Given the description of an element on the screen output the (x, y) to click on. 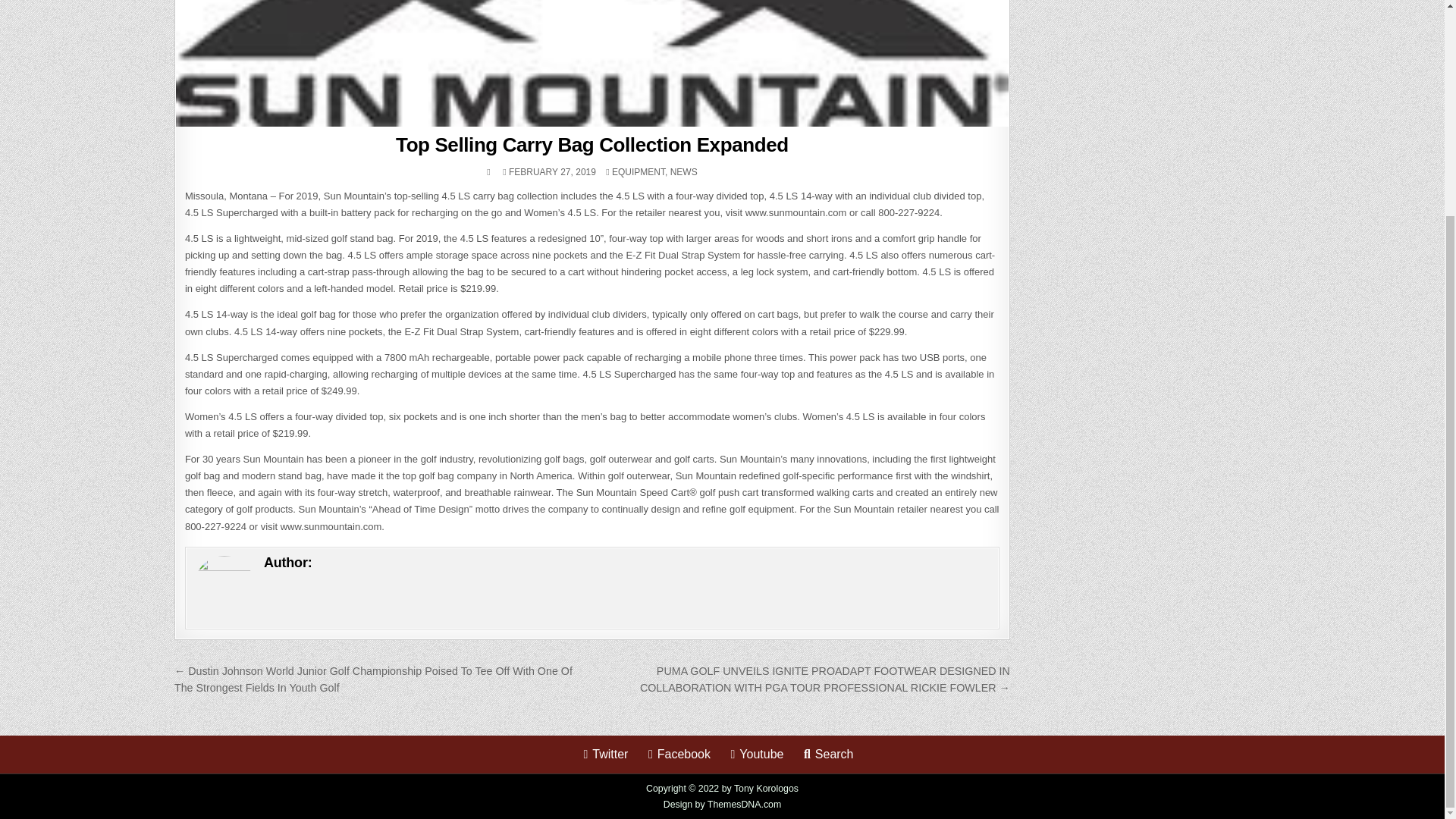
EQUIPMENT (638, 172)
Top Selling Carry Bag Collection Expanded (592, 144)
Permanent Link to Top Selling Carry Bag Collection Expanded (592, 63)
NEWS (683, 172)
Youtube (756, 753)
Twitter (604, 753)
Design by ThemesDNA.com (722, 804)
Facebook (678, 753)
Search (829, 753)
